Given the description of an element on the screen output the (x, y) to click on. 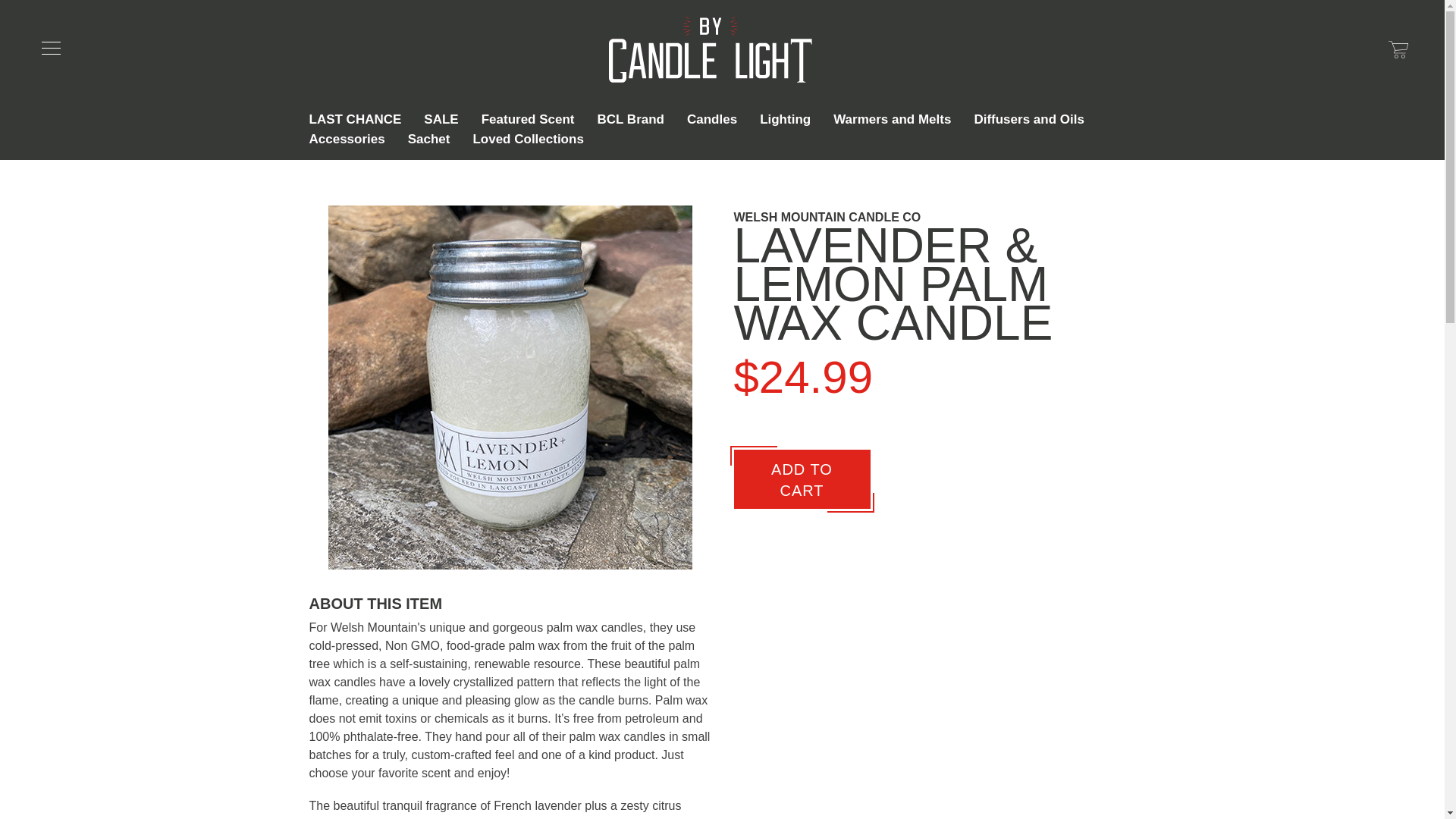
icon-cart-svg (1398, 49)
